Given the description of an element on the screen output the (x, y) to click on. 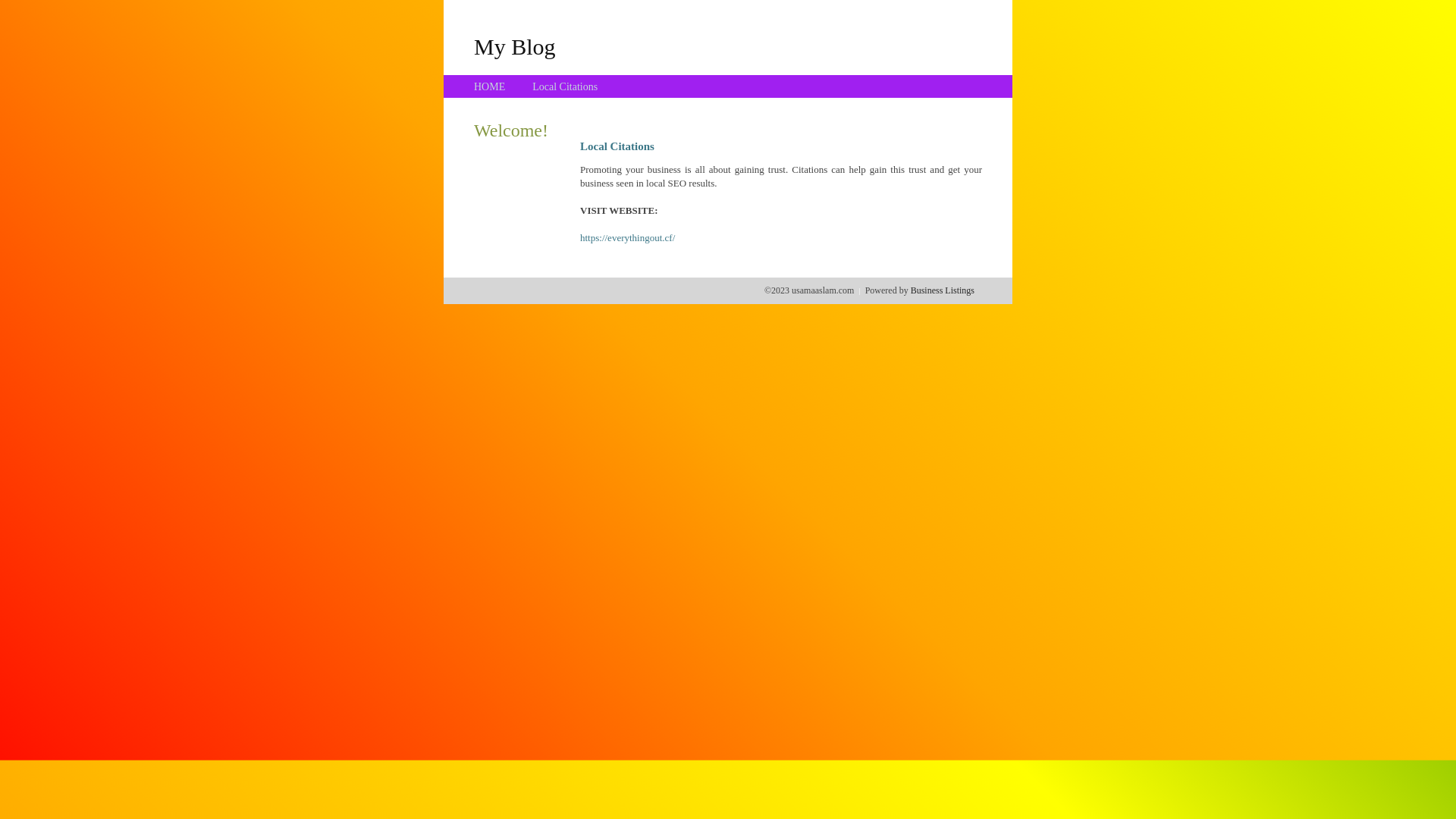
HOME Element type: text (489, 86)
https://everythingout.cf/ Element type: text (627, 237)
Business Listings Element type: text (942, 290)
My Blog Element type: text (514, 46)
Local Citations Element type: text (564, 86)
